Given the description of an element on the screen output the (x, y) to click on. 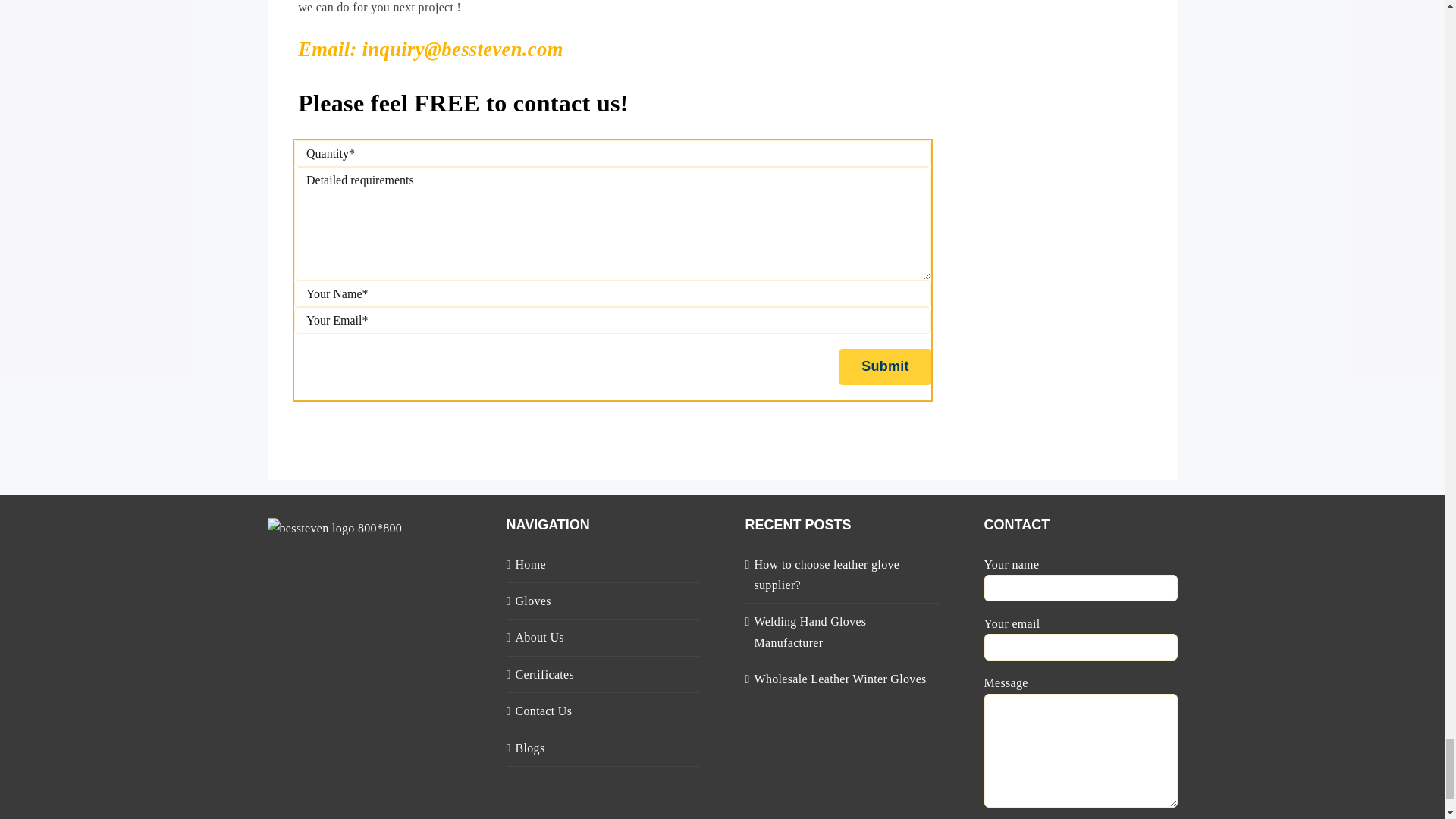
Submit (885, 366)
